Given the description of an element on the screen output the (x, y) to click on. 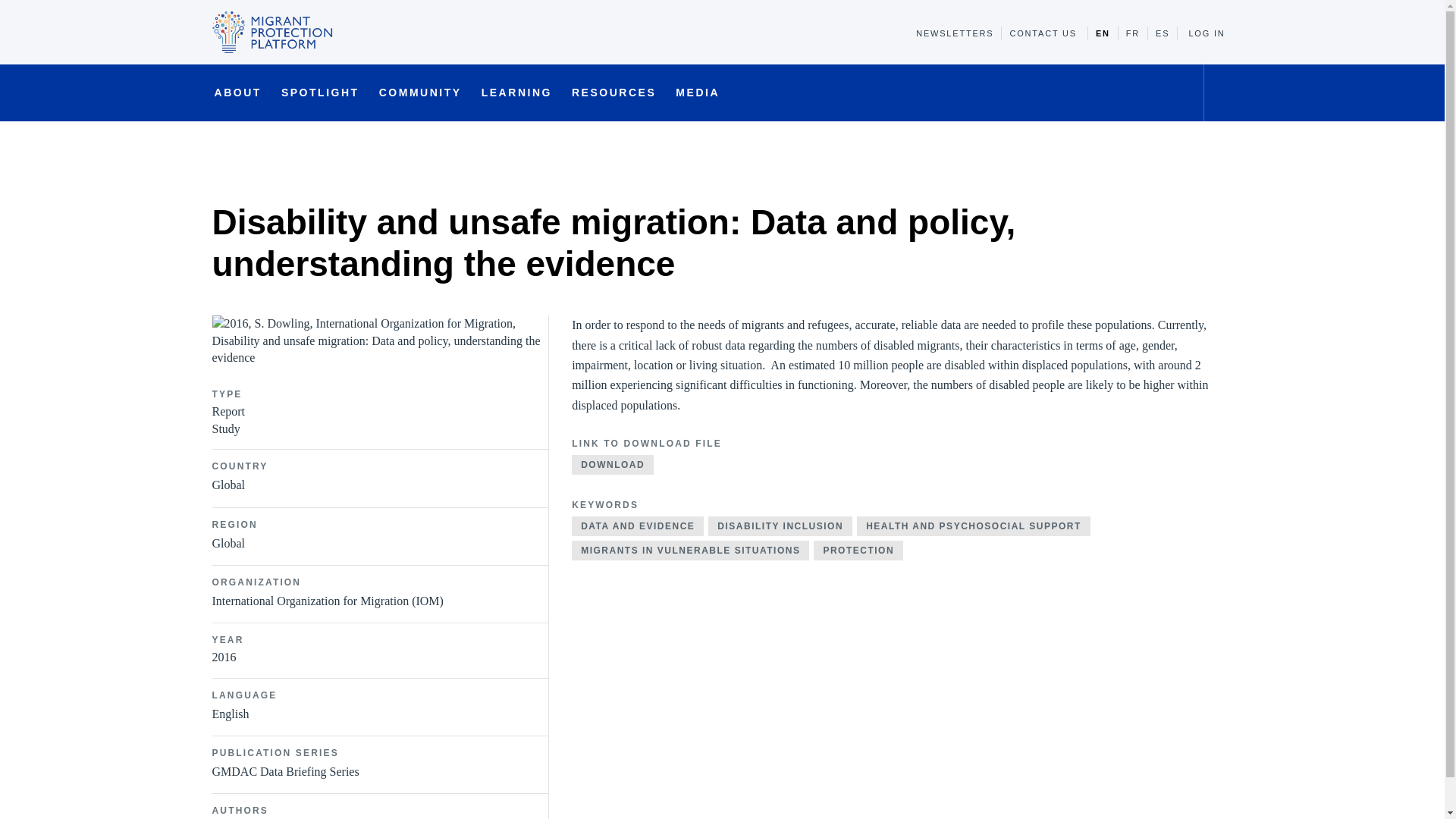
EN (1102, 33)
ES (1162, 33)
DATA AND EVIDENCE (637, 526)
MIGRANTS IN VULNERABLE SITUATIONS (690, 550)
DISABILITY INCLUSION (779, 526)
HEALTH AND PSYCHOSOCIAL SUPPORT (973, 526)
SPOTLIGHT (320, 98)
NEWSLETTERS (954, 33)
LOG IN (1205, 33)
CONTACT US (1042, 33)
